Given the description of an element on the screen output the (x, y) to click on. 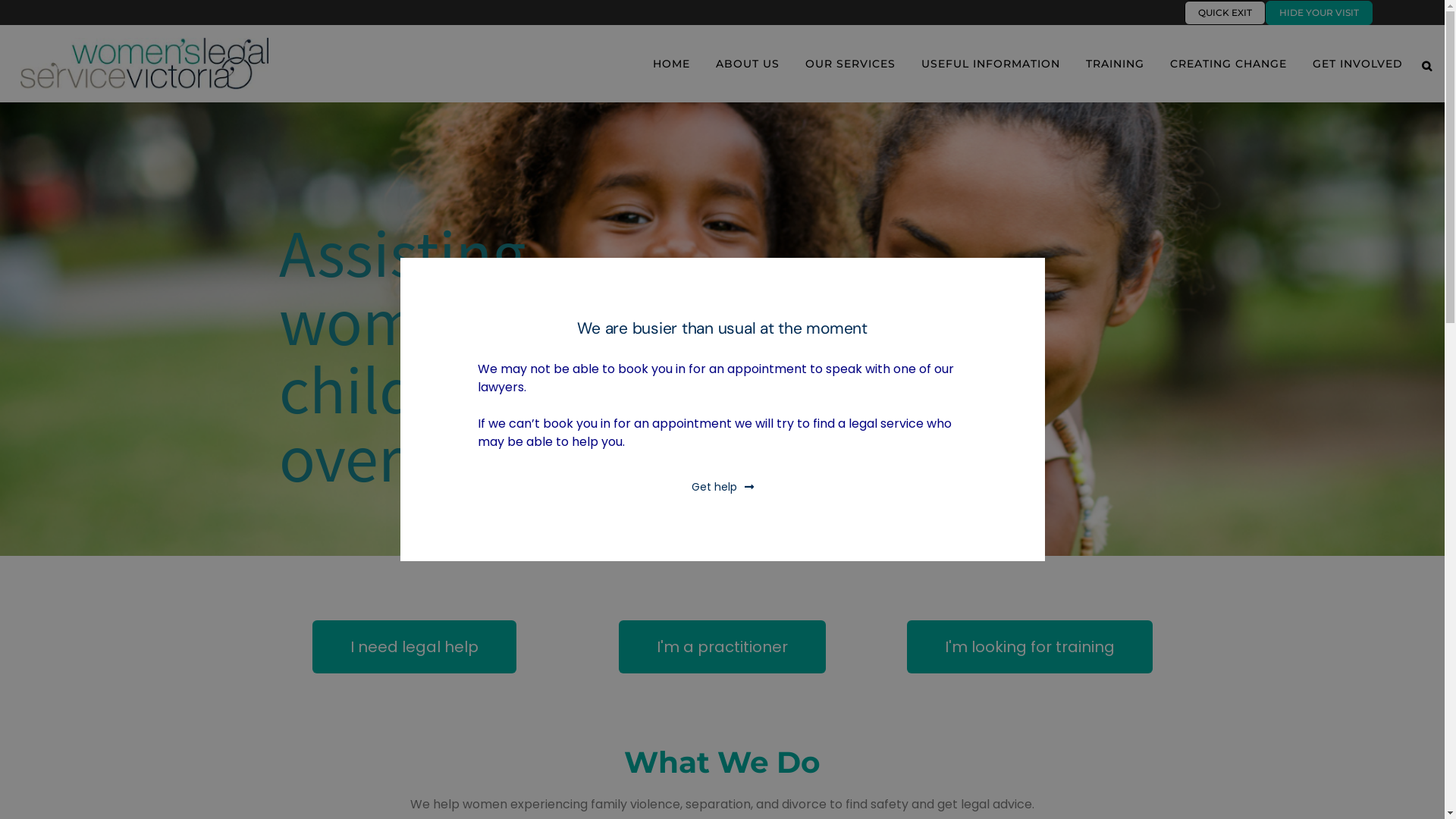
QUICK EXIT Element type: text (1224, 12)
HIDE YOUR VISIT Element type: text (1318, 12)
GET INVOLVED Element type: text (1357, 63)
I need legal help Element type: text (414, 646)
HOME Element type: text (671, 63)
OUR SERVICES Element type: text (850, 63)
Get help Element type: text (722, 486)
I'm looking for training Element type: text (1029, 646)
ABOUT US Element type: text (747, 63)
Assisting women and children for over 40 years Element type: text (504, 352)
CREATING CHANGE Element type: text (1228, 63)
TRAINING Element type: text (1115, 63)
I'm a practitioner Element type: text (721, 646)
USEFUL INFORMATION Element type: text (990, 63)
